Given the description of an element on the screen output the (x, y) to click on. 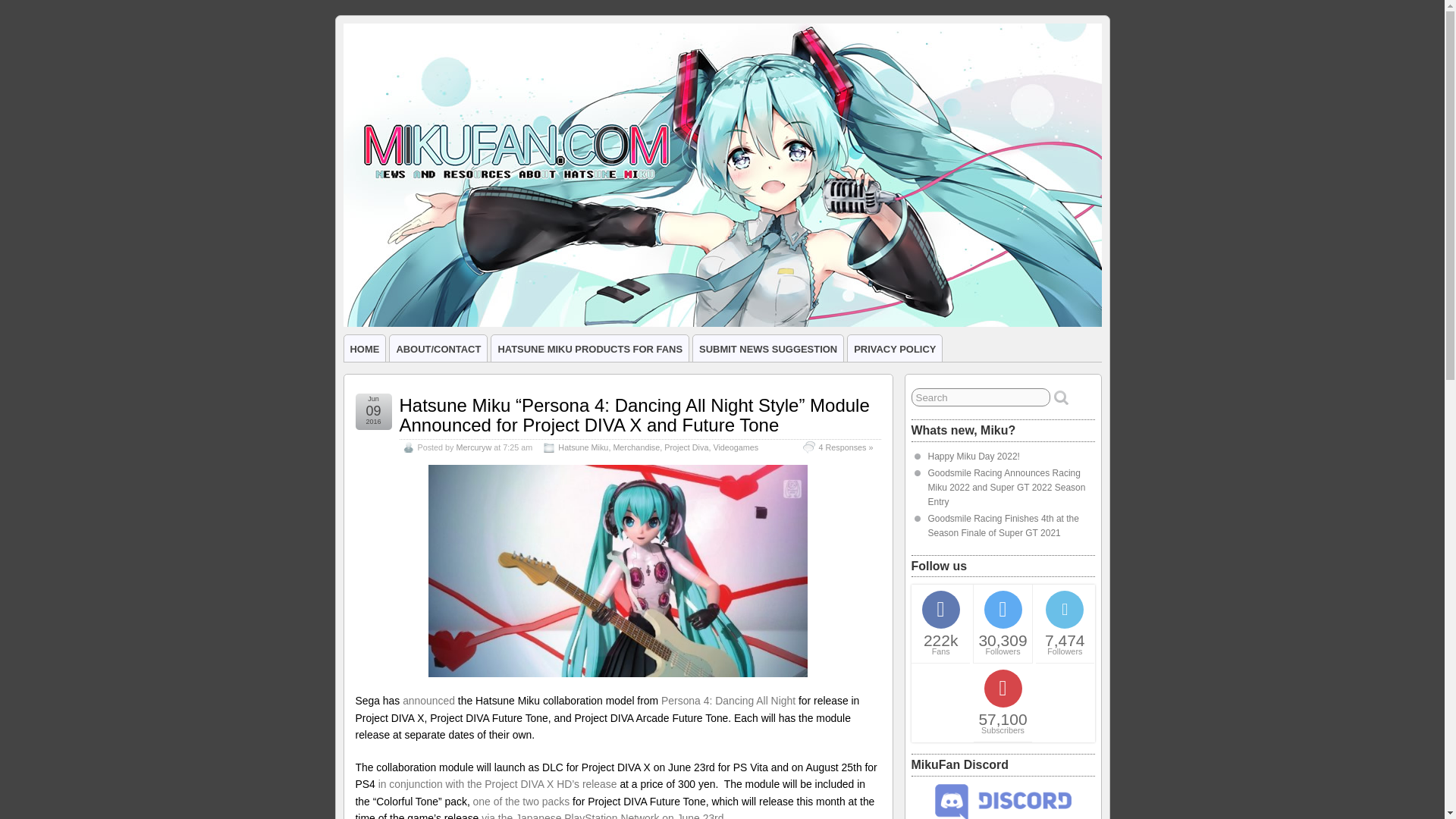
HOME (364, 347)
announced (428, 700)
Project Diva (685, 447)
Search (980, 397)
one of the two packs (521, 801)
Search (980, 397)
PRIVACY POLICY (894, 347)
Merchandise (635, 447)
MikuFan Discord (1002, 816)
via the Japanese PlayStation Network on June 23rd (602, 815)
Hatsune Miku (582, 447)
HATSUNE MIKU PRODUCTS FOR FANS (590, 347)
Videogames (735, 447)
Happy Miku Day 2022! (974, 456)
